Given the description of an element on the screen output the (x, y) to click on. 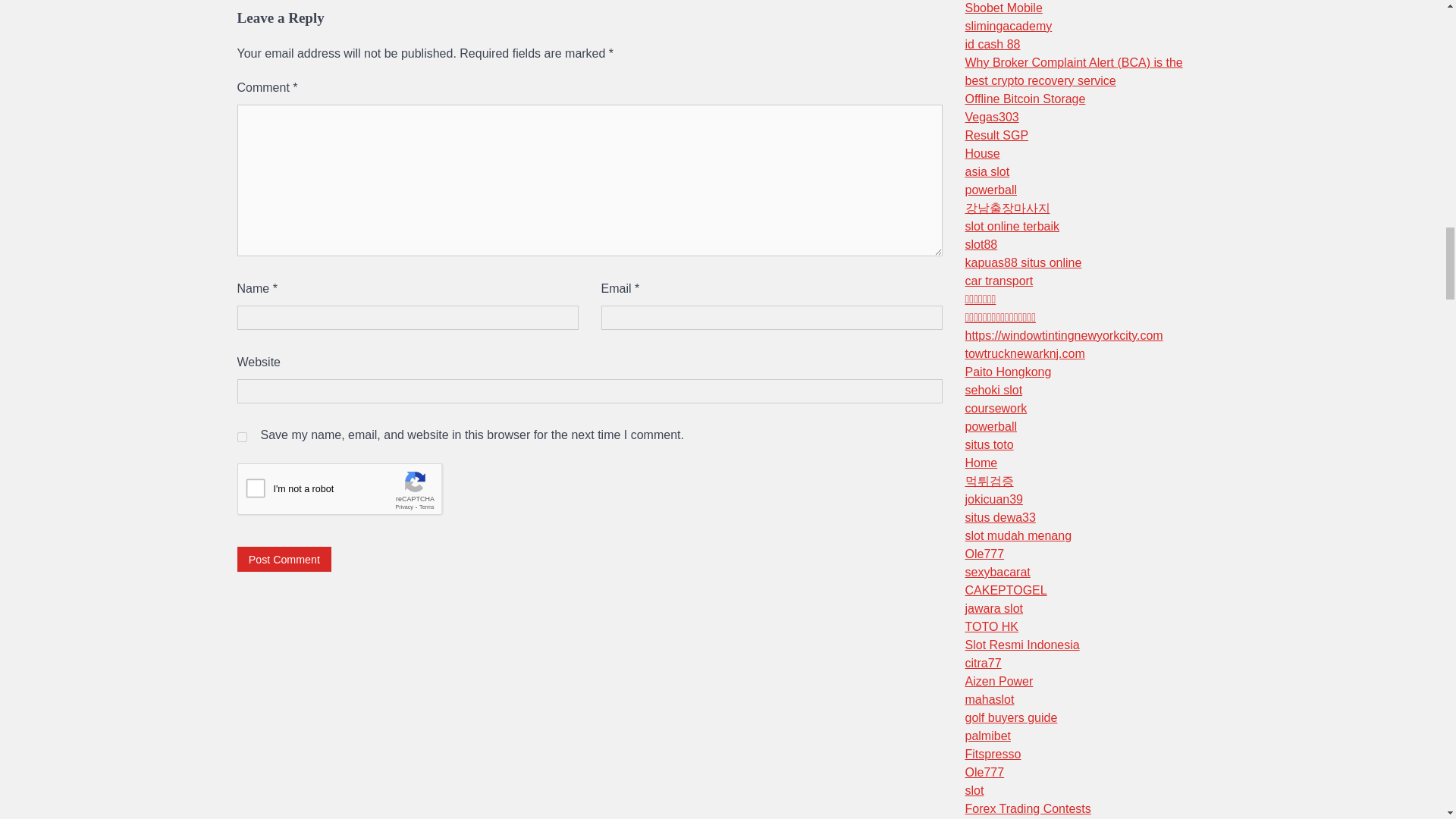
reCAPTCHA (351, 492)
palmibet (986, 735)
yes (240, 437)
Post Comment (283, 559)
Post Comment (283, 559)
